Given the description of an element on the screen output the (x, y) to click on. 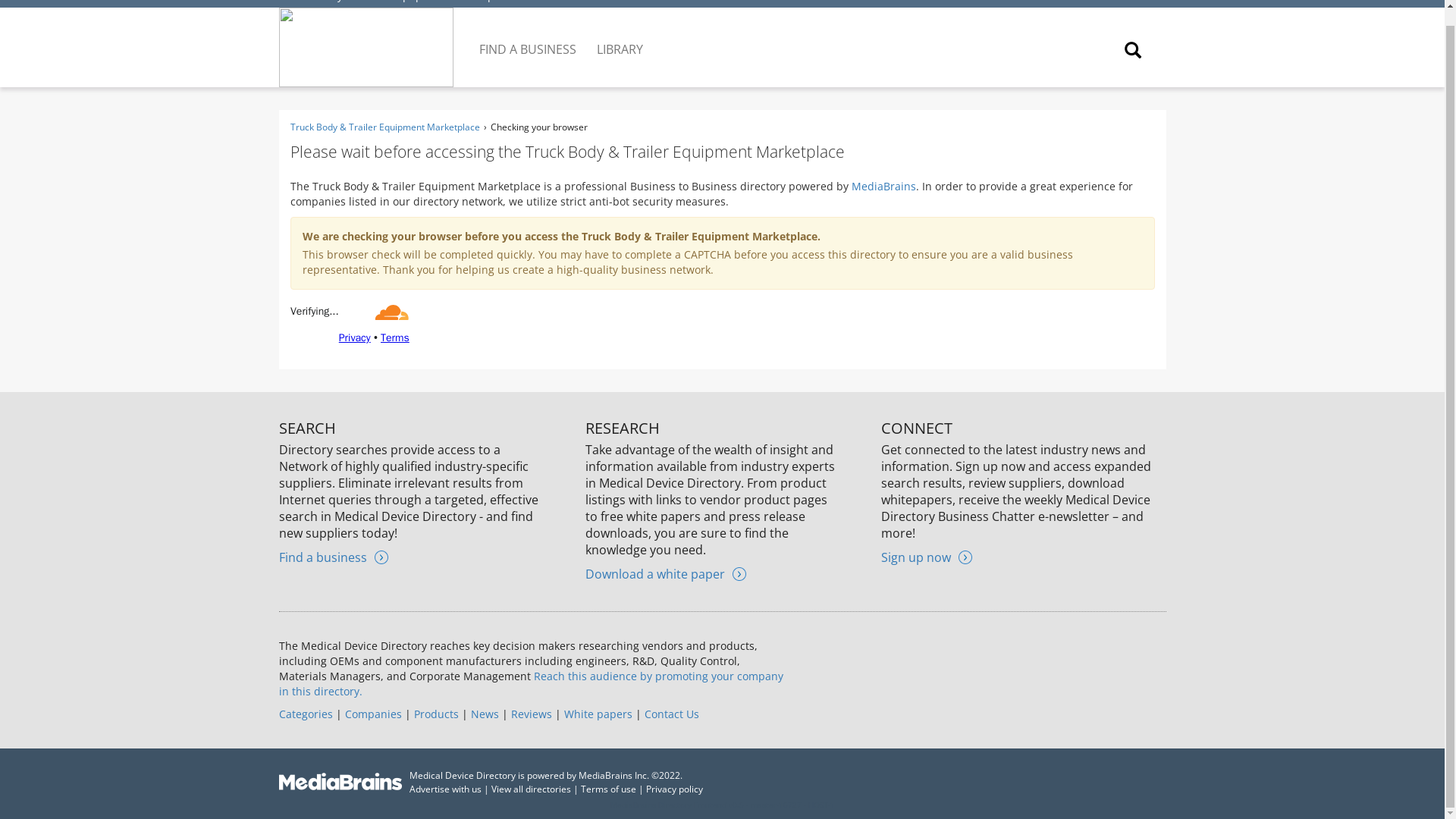
Companies (372, 713)
Terms of use (608, 788)
Categories (306, 713)
FIND A BUSINESS (528, 37)
LIBRARY (620, 37)
Sign up now (926, 556)
MediaBrains (882, 186)
Products (435, 713)
Find a business (333, 556)
View all directories (531, 788)
Privacy policy (674, 788)
White papers (597, 713)
Download a white paper (665, 573)
News (483, 713)
Reviews (531, 713)
